Given the description of an element on the screen output the (x, y) to click on. 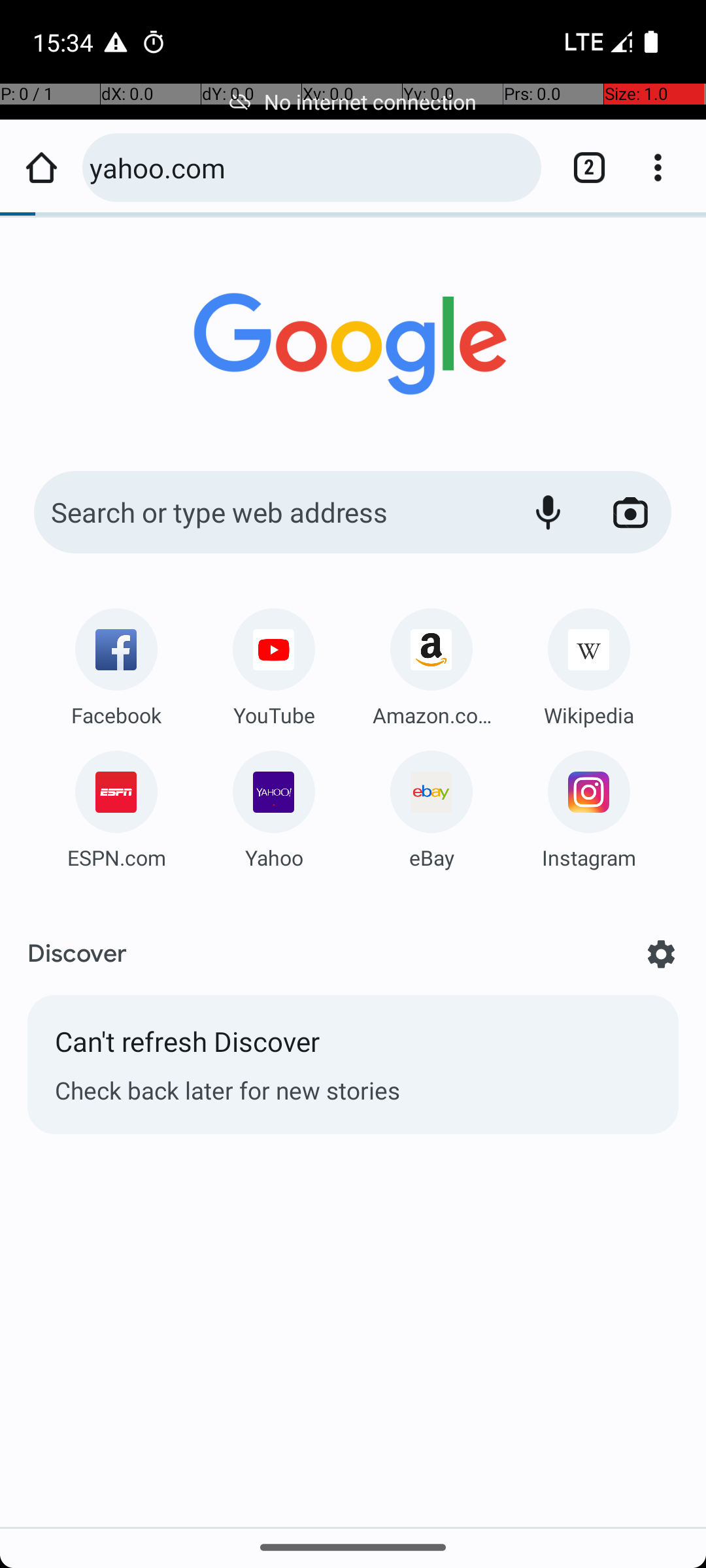
No internet connection Element type: android.widget.TextView (352, 101)
yahoo.com Element type: android.widget.EditText (308, 167)
Switch or close tabs Element type: android.widget.ImageButton (582, 167)
Search or type web address Element type: android.widget.EditText (267, 512)
Start voice search Element type: android.widget.ImageView (547, 512)
Search with your camera using Google Lens Element type: android.widget.ImageView (629, 512)
Navigate: Facebook: m.facebook.com Element type: android.widget.FrameLayout (115, 662)
Navigate: YouTube: m.youtube.com Element type: android.widget.FrameLayout (273, 662)
Navigate: Amazon.com: www.amazon.com Element type: android.widget.FrameLayout (431, 662)
Navigate: Wikipedia: en.m.wikipedia.org Element type: android.widget.FrameLayout (588, 662)
Navigate: ESPN.com: www.espn.com Element type: android.widget.FrameLayout (115, 804)
Navigate: Yahoo: www.yahoo.com Element type: android.widget.FrameLayout (273, 804)
Navigate: eBay: m.ebay.com Element type: android.widget.FrameLayout (431, 804)
Navigate: Instagram: www.instagram.com Element type: android.widget.FrameLayout (588, 804)
Discover Element type: android.widget.TextView (76, 953)
Options for Discover Element type: android.widget.ImageButton (660, 953)
Can't refresh Discover Element type: android.widget.TextView (352, 1047)
Check back later for new stories Element type: android.widget.TextView (352, 1089)
Facebook Element type: android.widget.TextView (115, 715)
Amazon.com Element type: android.widget.TextView (430, 715)
Wikipedia Element type: android.widget.TextView (588, 715)
ESPN.com Element type: android.widget.TextView (115, 857)
Yahoo Element type: android.widget.TextView (273, 857)
eBay Element type: android.widget.TextView (430, 857)
Instagram Element type: android.widget.TextView (588, 857)
